Given the description of an element on the screen output the (x, y) to click on. 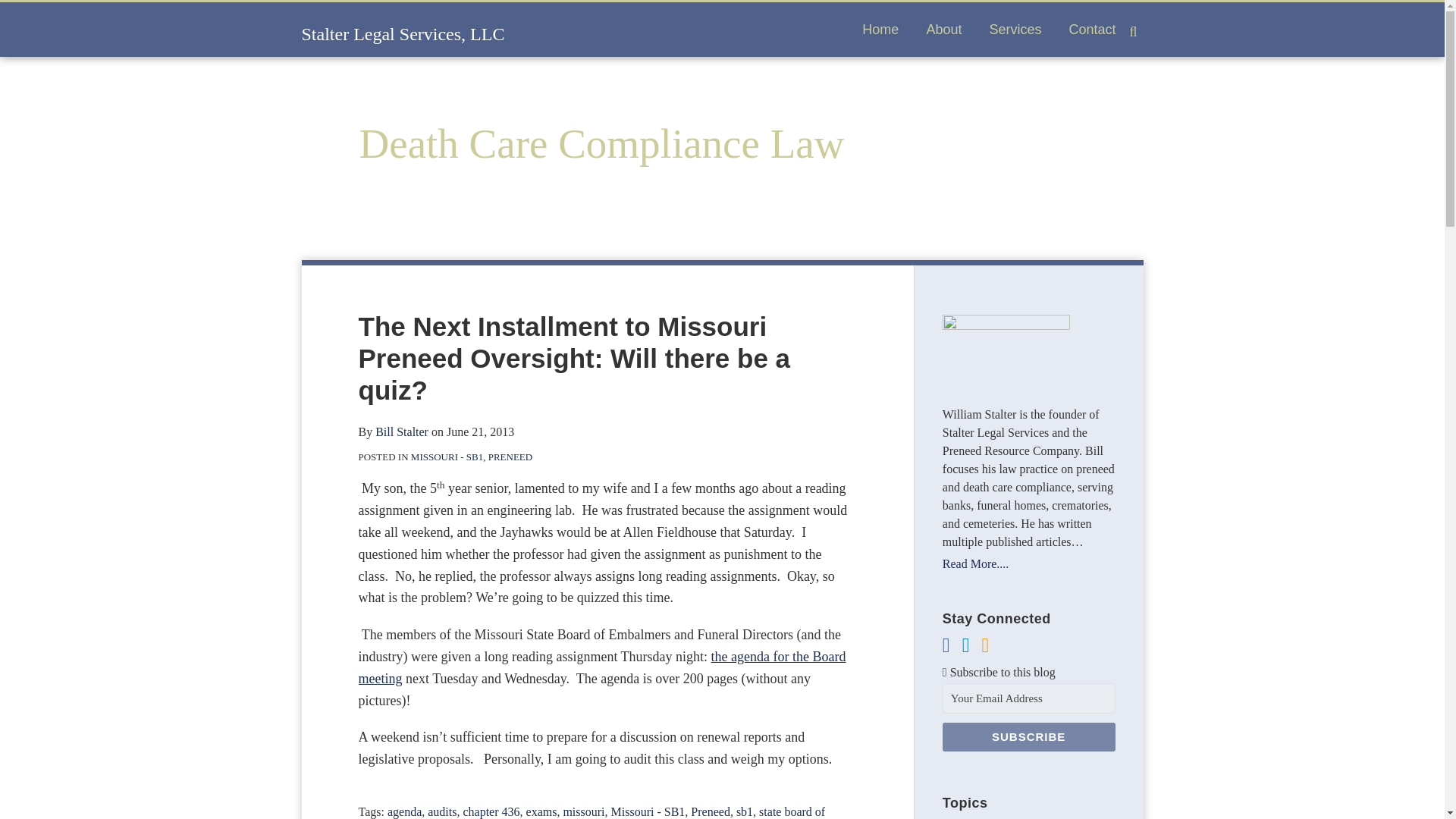
MISSOURI - SB1 (446, 456)
audits (442, 811)
state board of embalmers and funeral directors (591, 812)
About (943, 29)
Read More.... (1028, 564)
sb1 (744, 811)
Subscribe (1028, 736)
Death Care Compliance Law (601, 143)
Stalter Legal Services, LLC (403, 34)
exams (541, 811)
Home (879, 29)
Preneed (710, 811)
Missouri - SB1 (648, 811)
Services (1014, 29)
the agenda for the Board meeting (601, 667)
